Given the description of an element on the screen output the (x, y) to click on. 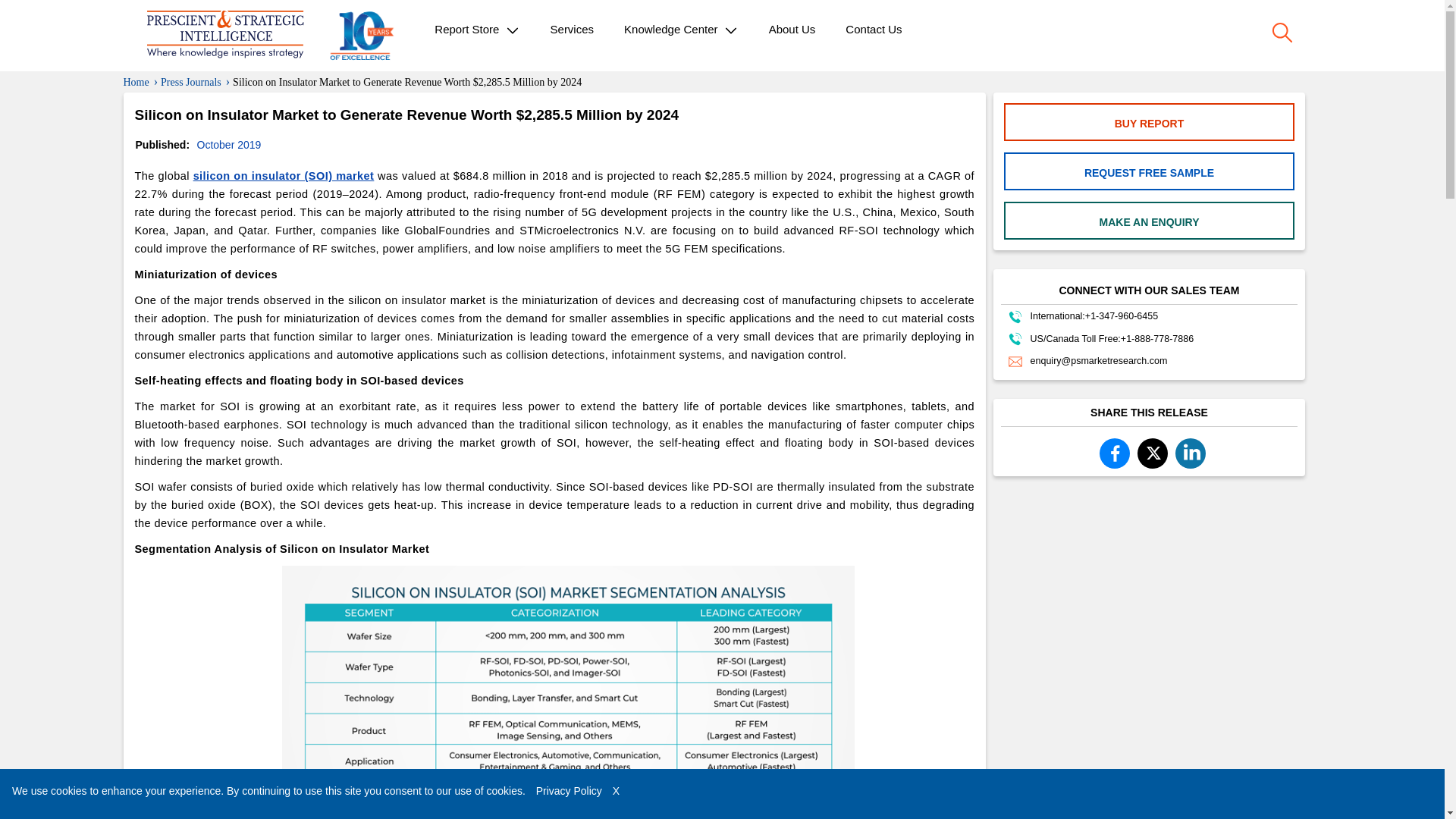
Share With Twitter (1152, 451)
REQUEST FREE SAMPLE (1149, 172)
About Us (792, 28)
Home (135, 81)
Services (572, 28)
Report Store (476, 30)
Share With Facebook (1118, 453)
Knowledge Center (681, 30)
Share With Linkedin (1191, 451)
